Given the description of an element on the screen output the (x, y) to click on. 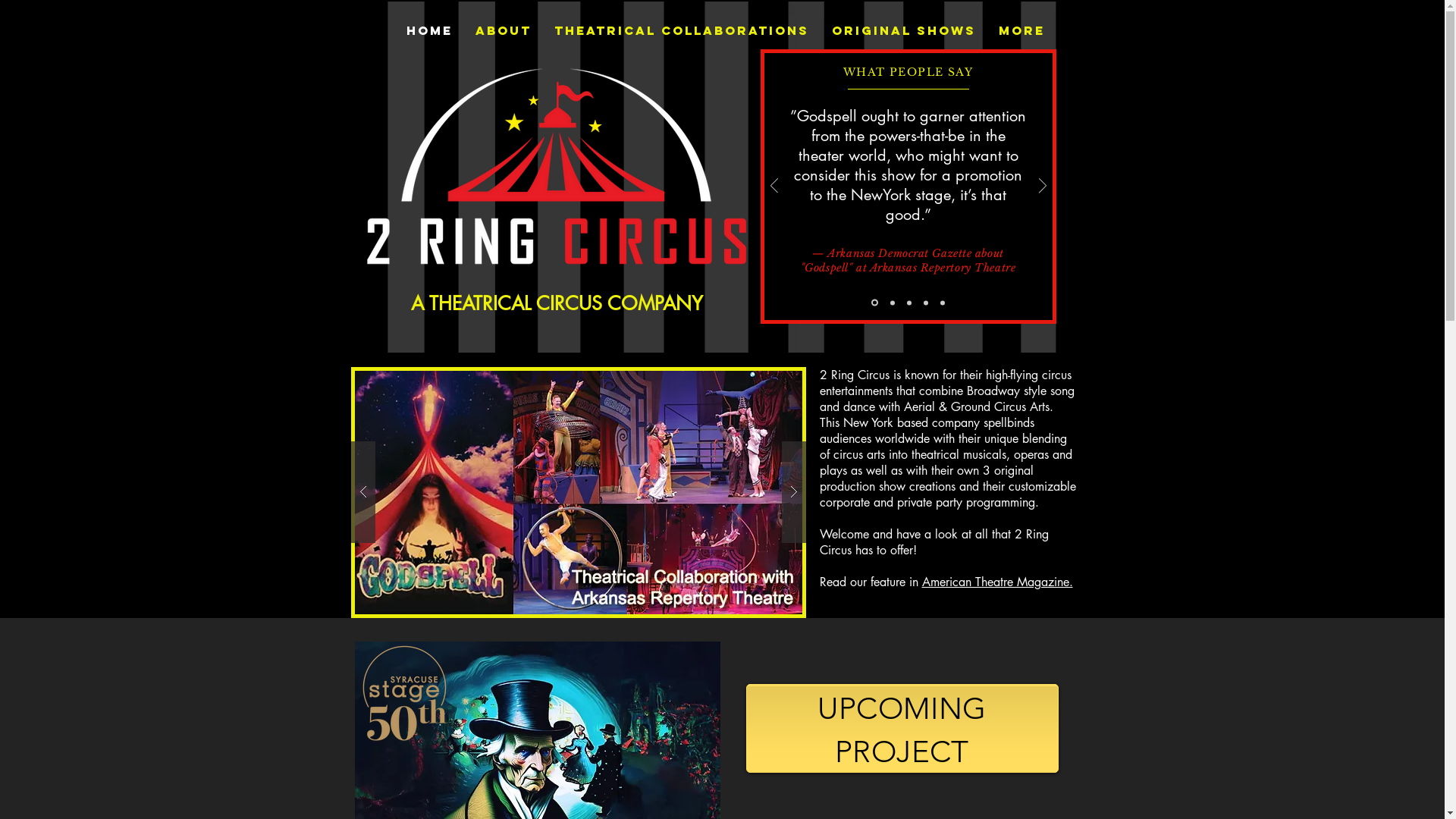
THEATRICAL COLLABORATIONS Element type: text (681, 30)
HOME Element type: text (428, 30)
A THEATRICAL CIRCUS COMPANY Element type: text (556, 303)
ABOUT Element type: text (503, 30)
American Theatre Magazine. Element type: text (997, 581)
73f3e0_65c2260ec3fc4ea69fbc2a9cc9356dc0~mv2.png Element type: hover (403, 693)
ORIGINAL SHOWS Element type: text (903, 30)
